Given the description of an element on the screen output the (x, y) to click on. 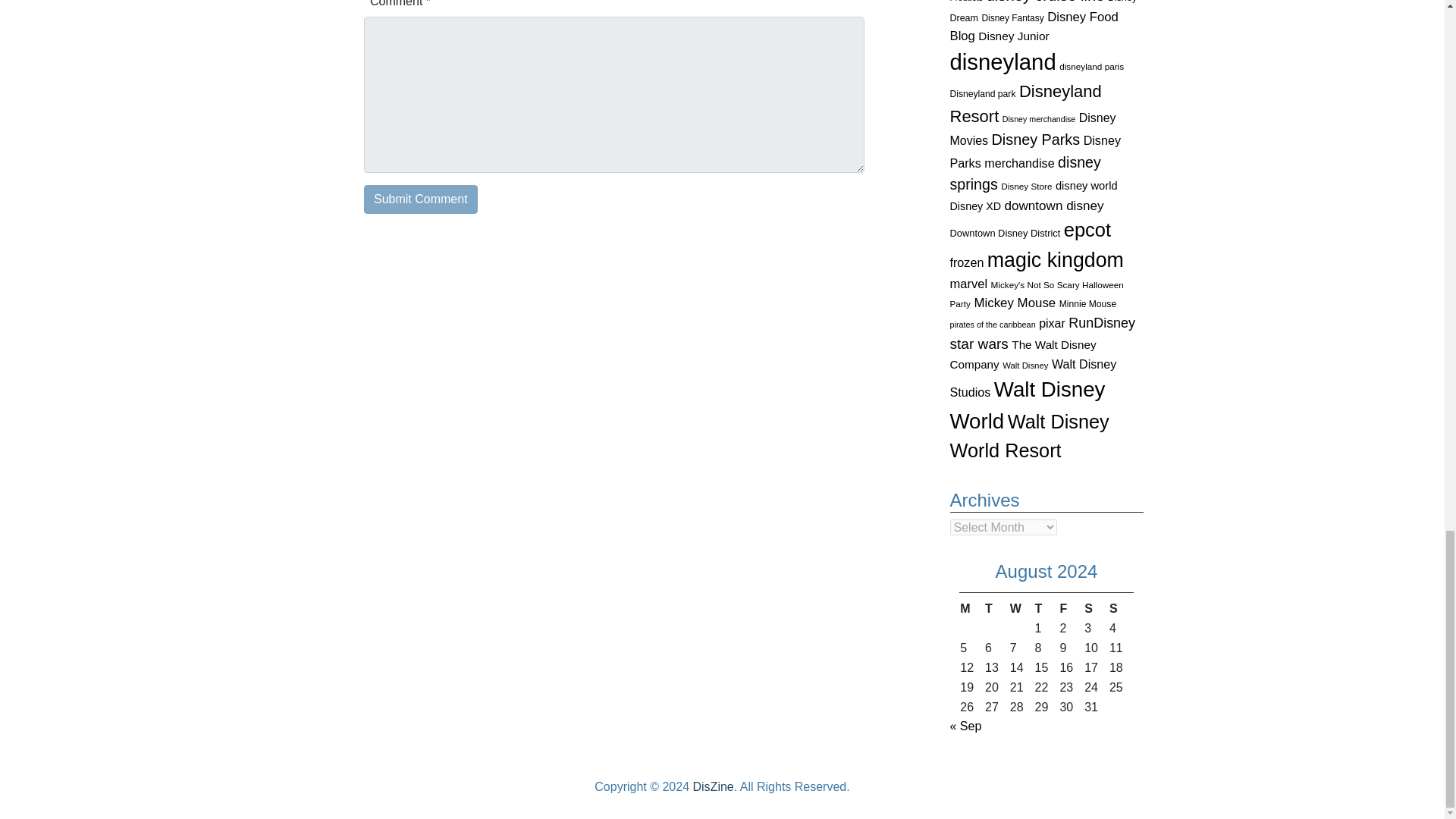
Submit Comment (420, 199)
Tuesday (996, 608)
Friday (1070, 608)
Saturday (1095, 608)
Sunday (1121, 608)
Wednesday (1021, 608)
Monday (971, 608)
Thursday (1046, 608)
